Given the description of an element on the screen output the (x, y) to click on. 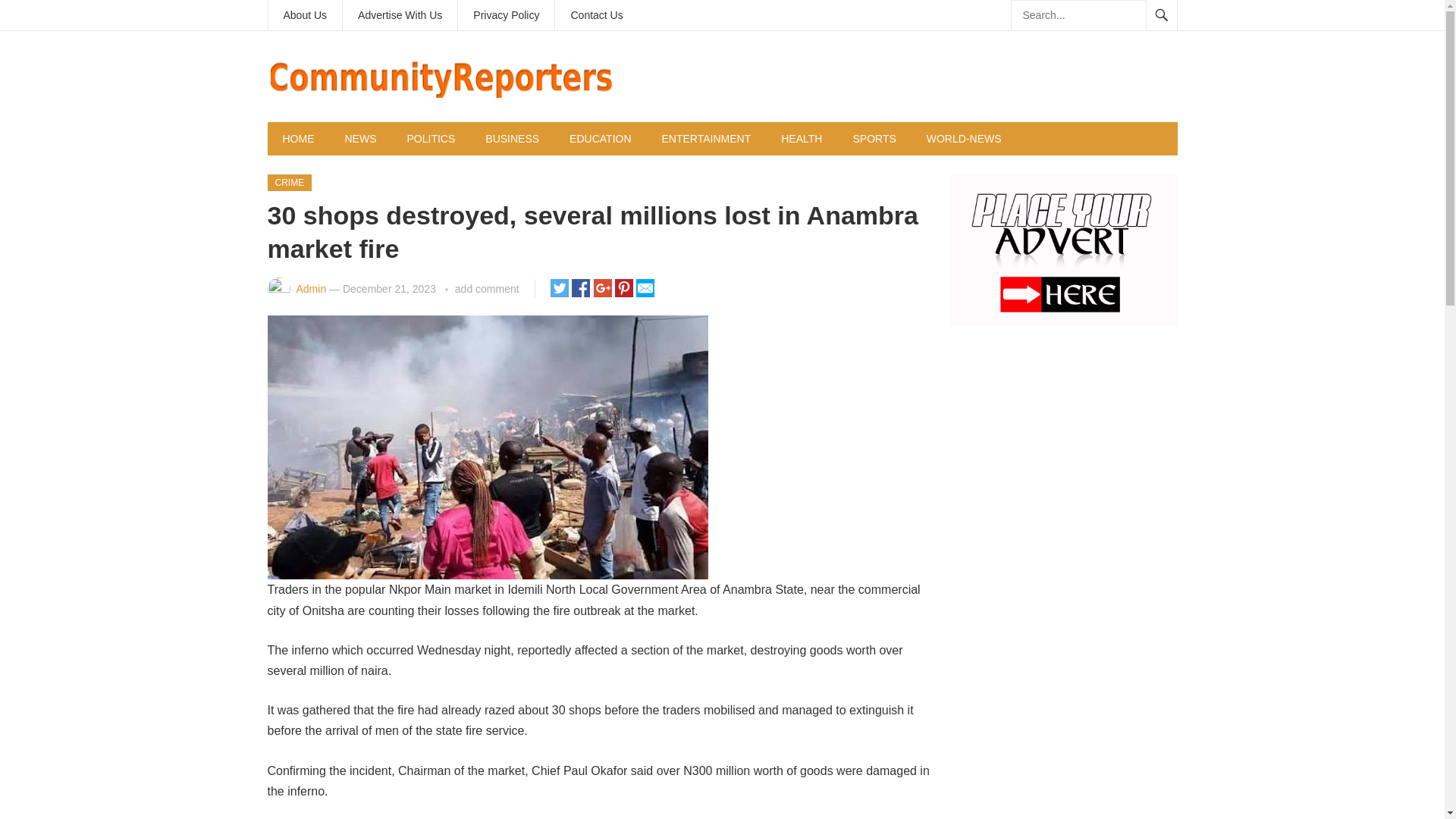
Posts by Admin (310, 288)
Contact Us (595, 15)
WORLD-NEWS (963, 138)
About Us (304, 15)
Privacy Policy (506, 15)
POLITICS (430, 138)
BUSINESS (512, 138)
SPORTS (874, 138)
HOME (297, 138)
View all posts in Crime (288, 182)
CRIME (288, 182)
EDUCATION (600, 138)
ENTERTAINMENT (706, 138)
Advertise With Us (399, 15)
NEWS (360, 138)
